Given the description of an element on the screen output the (x, y) to click on. 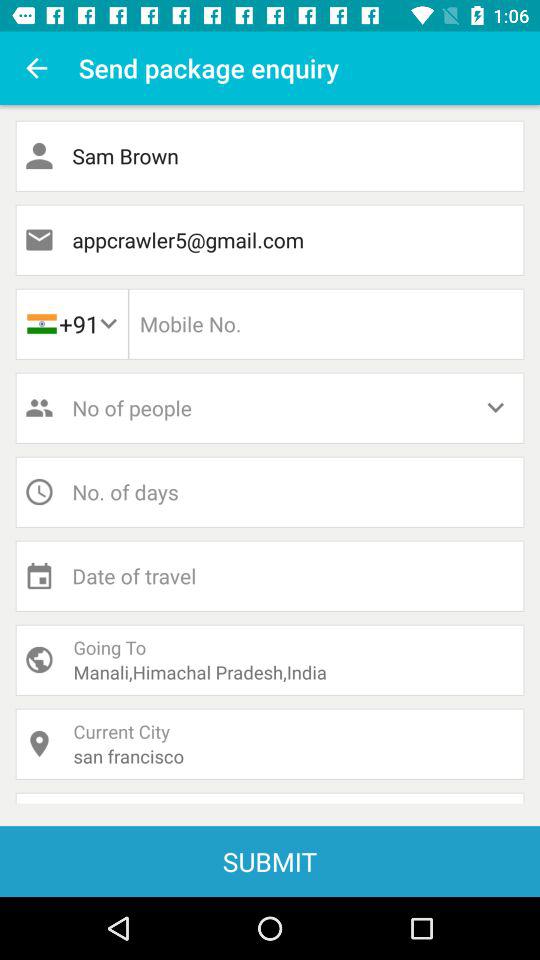
choose the item below appcrawler5@gmail.com icon (326, 323)
